Given the description of an element on the screen output the (x, y) to click on. 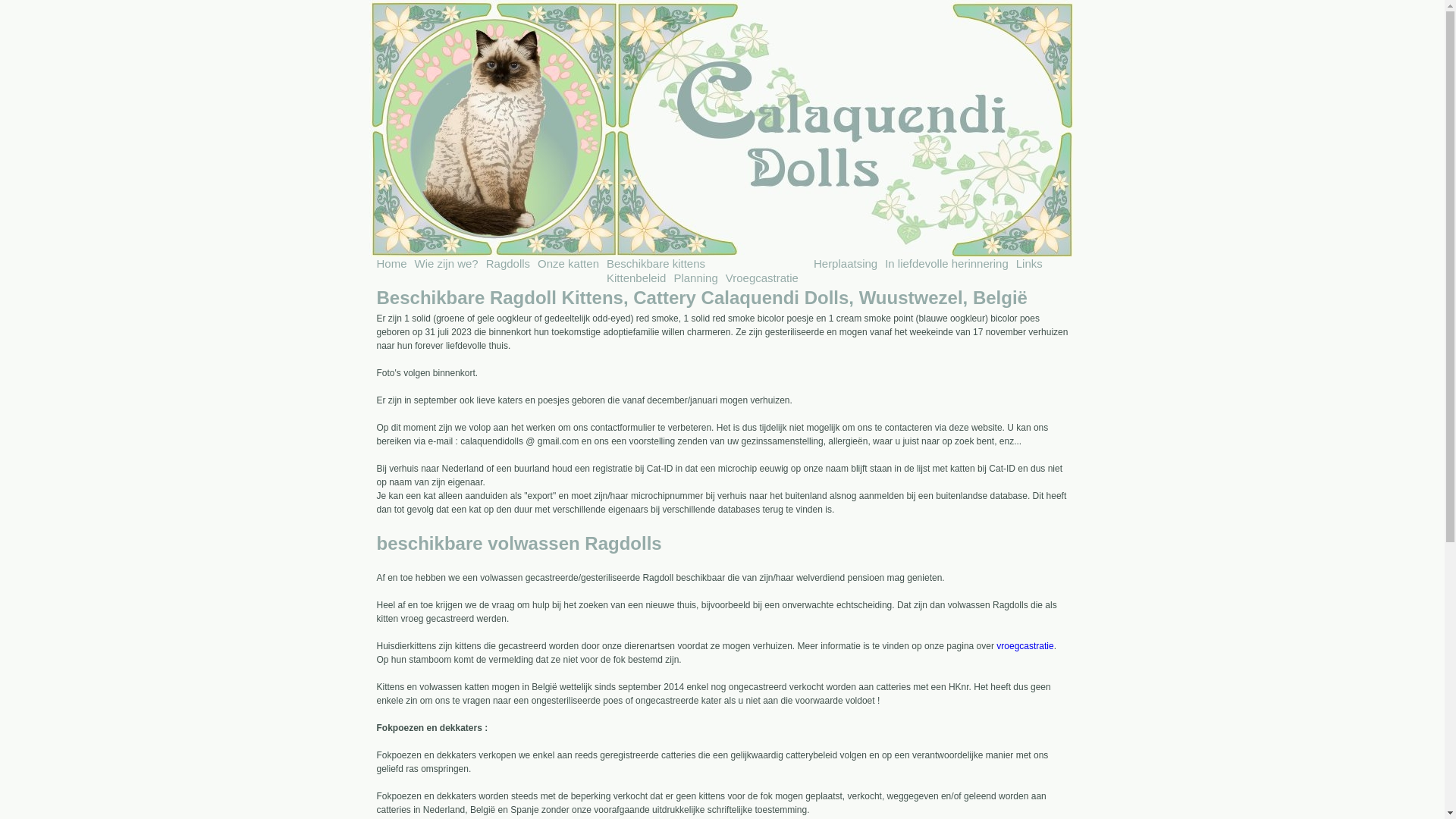
vroegcastratie Element type: text (1024, 645)
Jump to navigation Element type: text (722, 2)
Home Element type: text (391, 263)
Herplaatsing Element type: text (845, 263)
Links Element type: text (1029, 263)
Beschikbare kittens Element type: text (655, 263)
Planning Element type: text (695, 277)
Ragdolls Element type: text (508, 263)
Vroegcastratie Element type: text (761, 277)
In liefdevolle herinnering Element type: text (946, 263)
Onze katten Element type: text (568, 263)
Wie zijn we? Element type: text (446, 263)
Kittenbeleid Element type: text (635, 277)
